Given the description of an element on the screen output the (x, y) to click on. 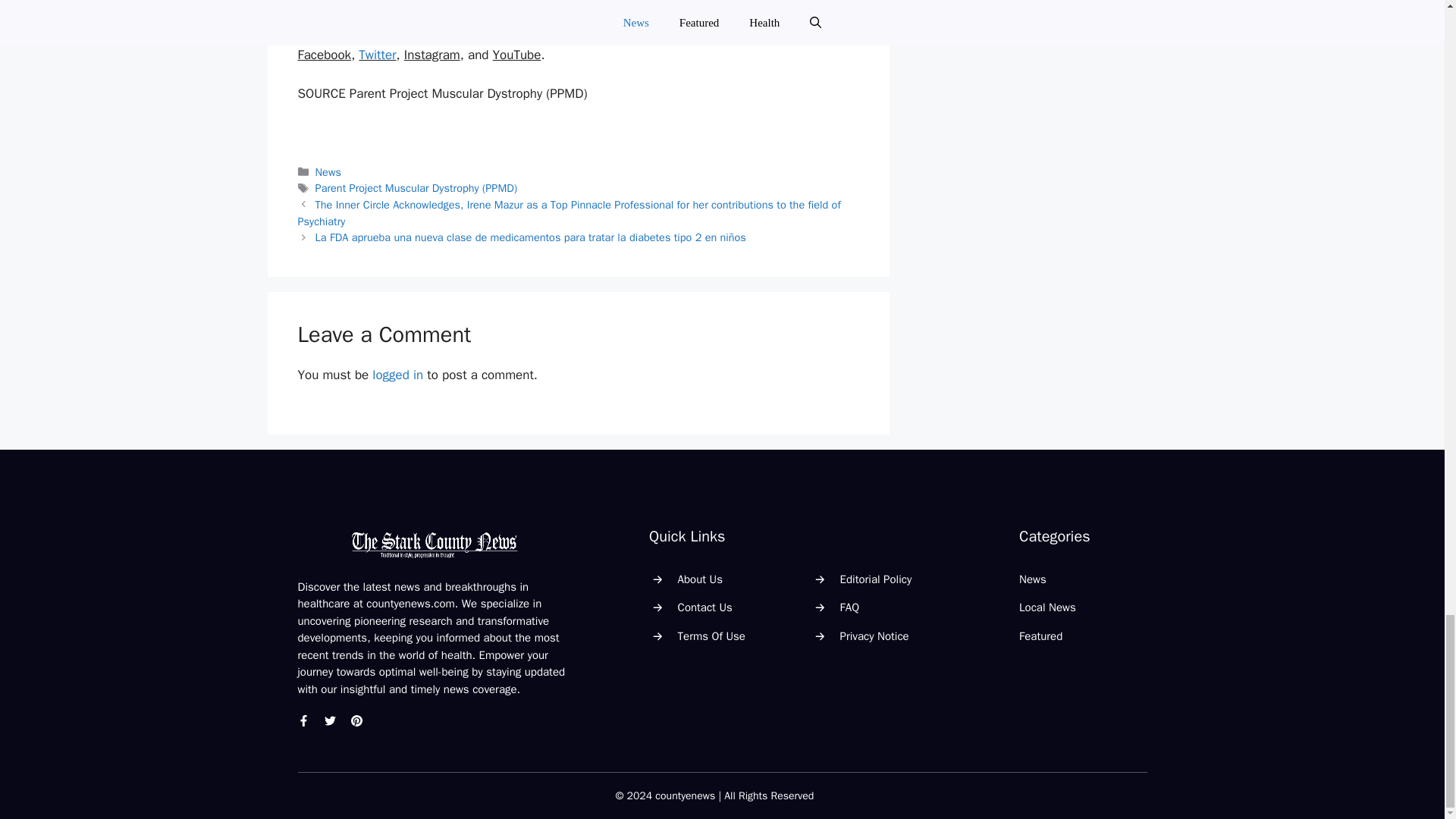
Terms Of Use (711, 635)
Twitter (377, 54)
logo-2-2 (433, 544)
Editorial Policy (876, 579)
Contact Us (705, 607)
Privacy Notice (874, 635)
Featured (1040, 635)
News (327, 172)
Local News (1047, 607)
